Given the description of an element on the screen output the (x, y) to click on. 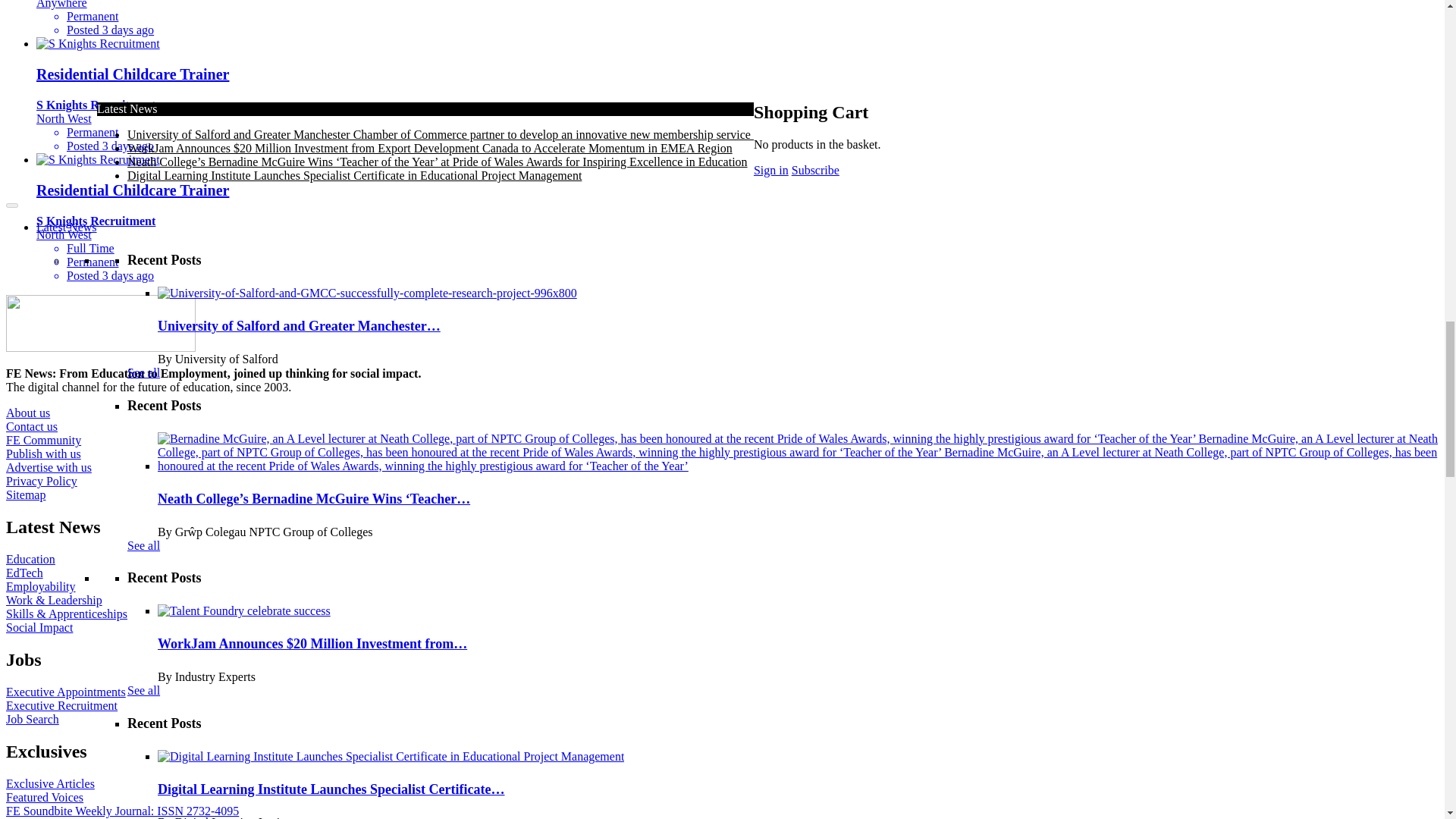
Publishing on FE News (424, 697)
